Given the description of an element on the screen output the (x, y) to click on. 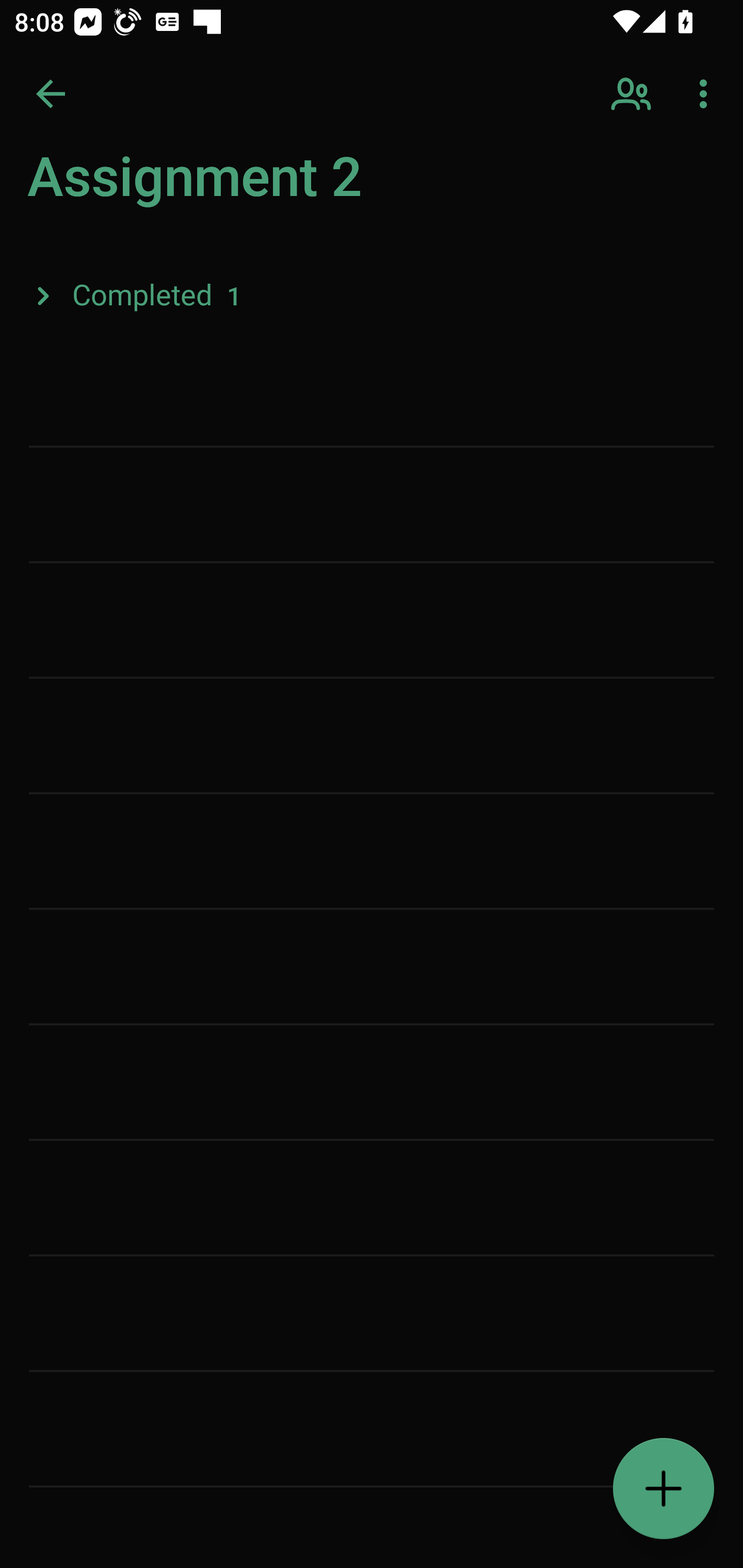
Back (50, 93)
Sharing options (632, 93)
More options (706, 93)
My Day, 0 tasks (182, 187)
Completed, 1 item, Collapsed Completed 1 (371, 295)
Add a task (663, 1488)
